Given the description of an element on the screen output the (x, y) to click on. 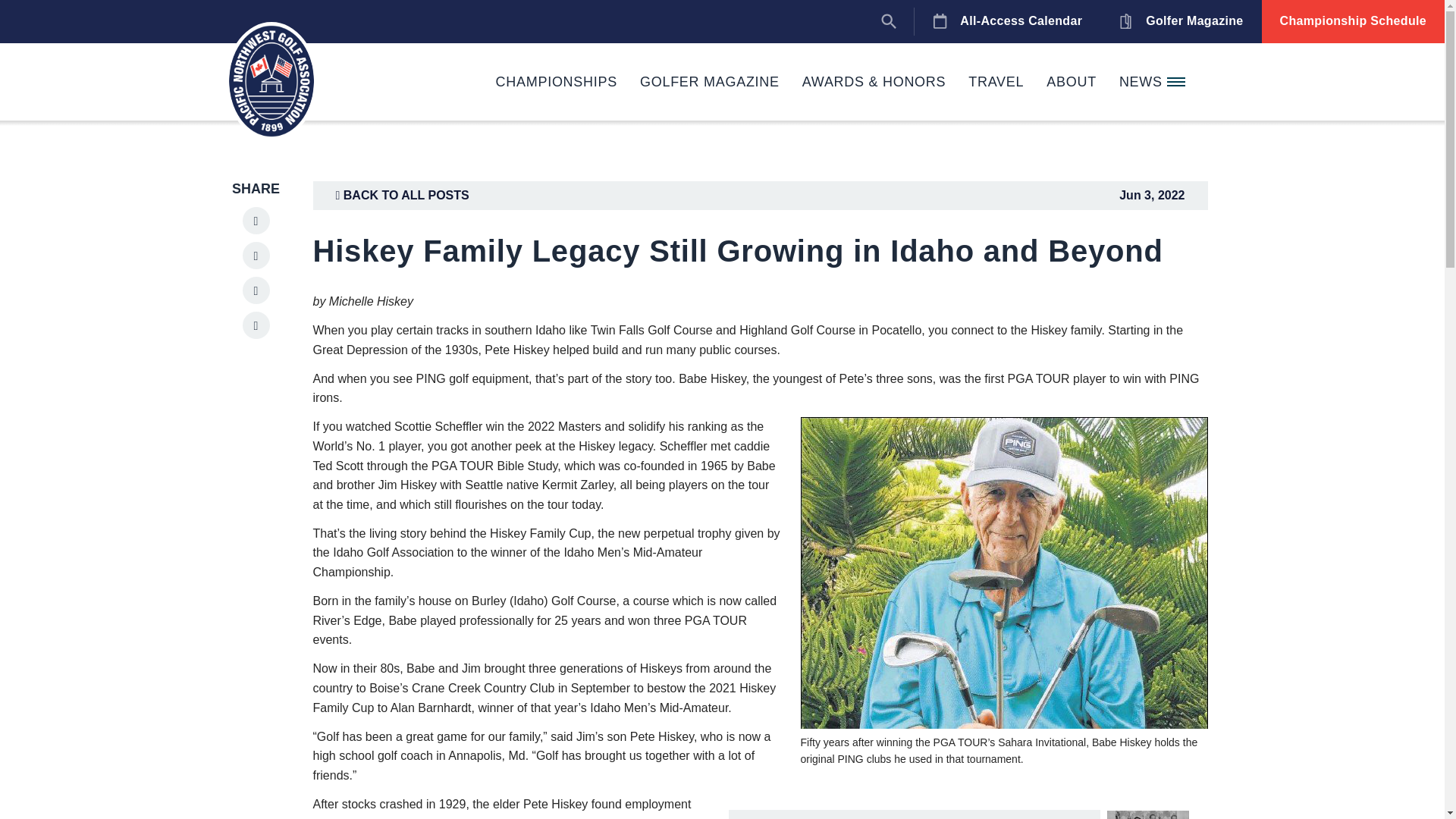
GOLFER MAGAZINE (709, 82)
TRAVEL (995, 82)
All-Access Calendar (1007, 21)
Twitter (256, 289)
Golfer Magazine (1180, 21)
Facebook (256, 255)
Email (256, 325)
ABOUT (1071, 82)
CHAMPIONSHIPS (556, 82)
LinkedIn (256, 220)
